Given the description of an element on the screen output the (x, y) to click on. 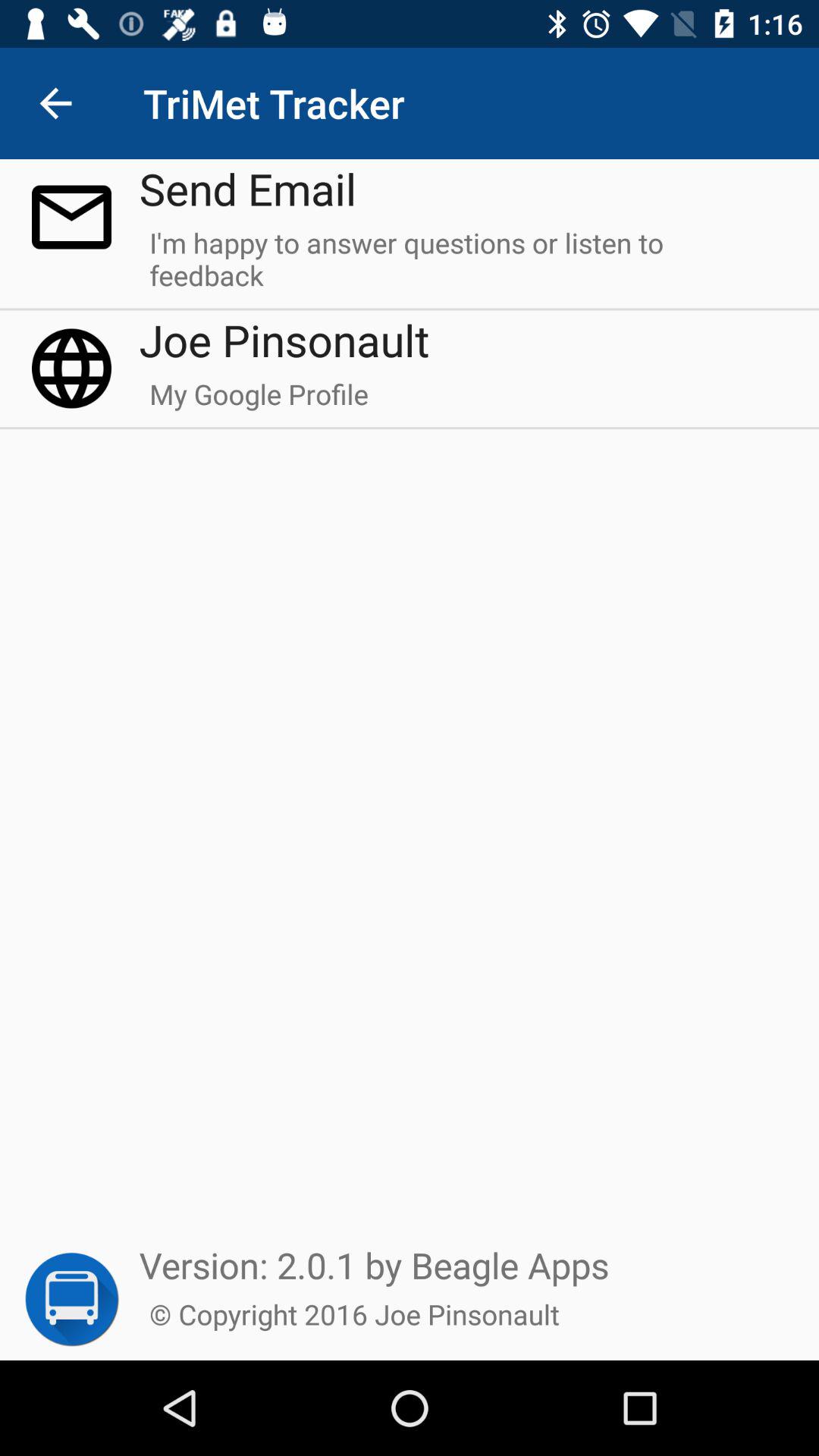
jump to the i m happy (464, 266)
